Given the description of an element on the screen output the (x, y) to click on. 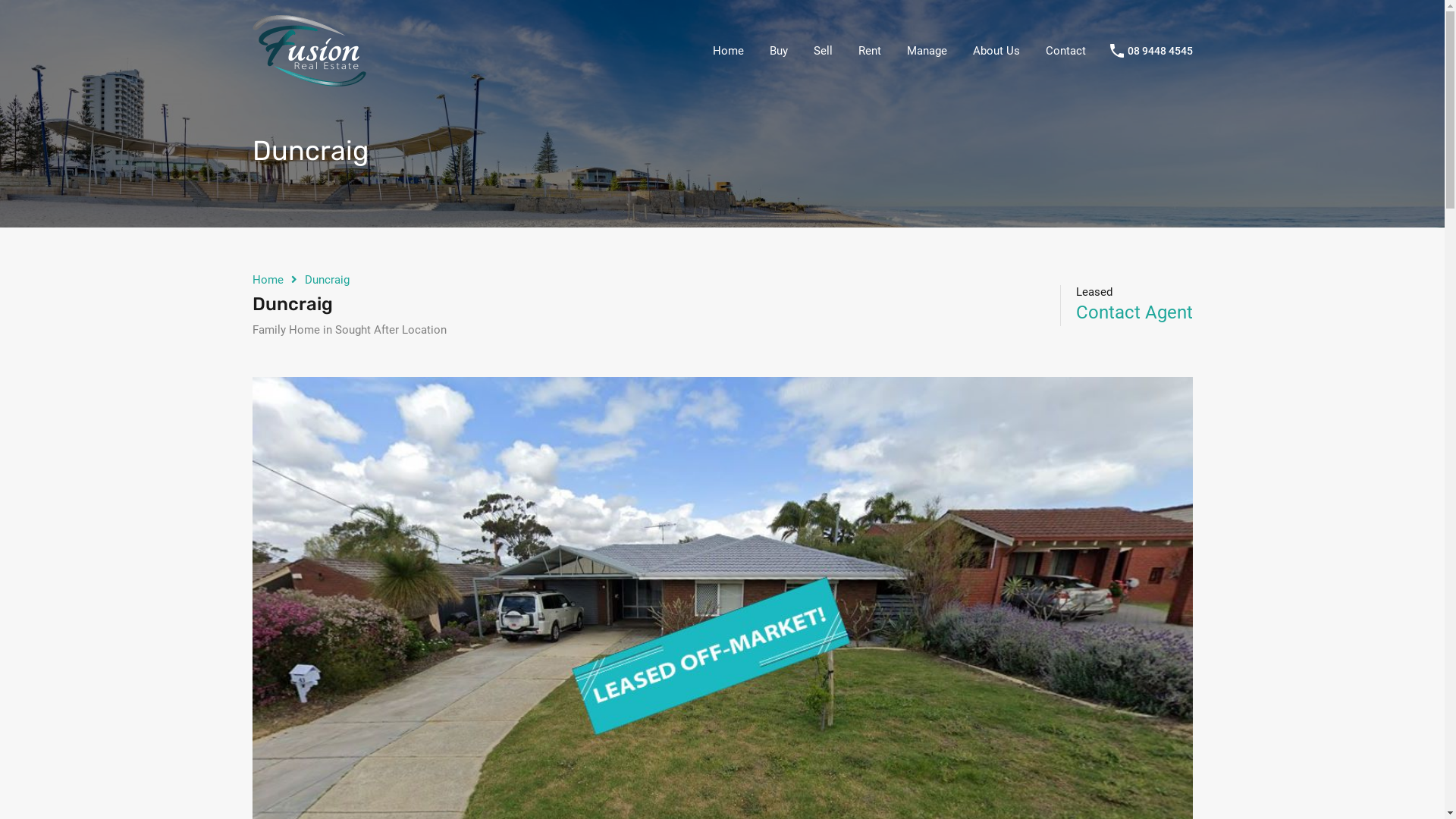
08 9448 4545 Element type: text (1159, 50)
Contact Element type: text (1065, 50)
Buy Element type: text (778, 50)
About Us Element type: text (996, 50)
Rent Element type: text (868, 50)
Home Element type: text (727, 50)
Sell Element type: text (822, 50)
Manage Element type: text (926, 50)
Home Element type: text (266, 279)
Fusion Real Estate Element type: hover (308, 79)
Duncraig Element type: text (326, 279)
